Given the description of an element on the screen output the (x, y) to click on. 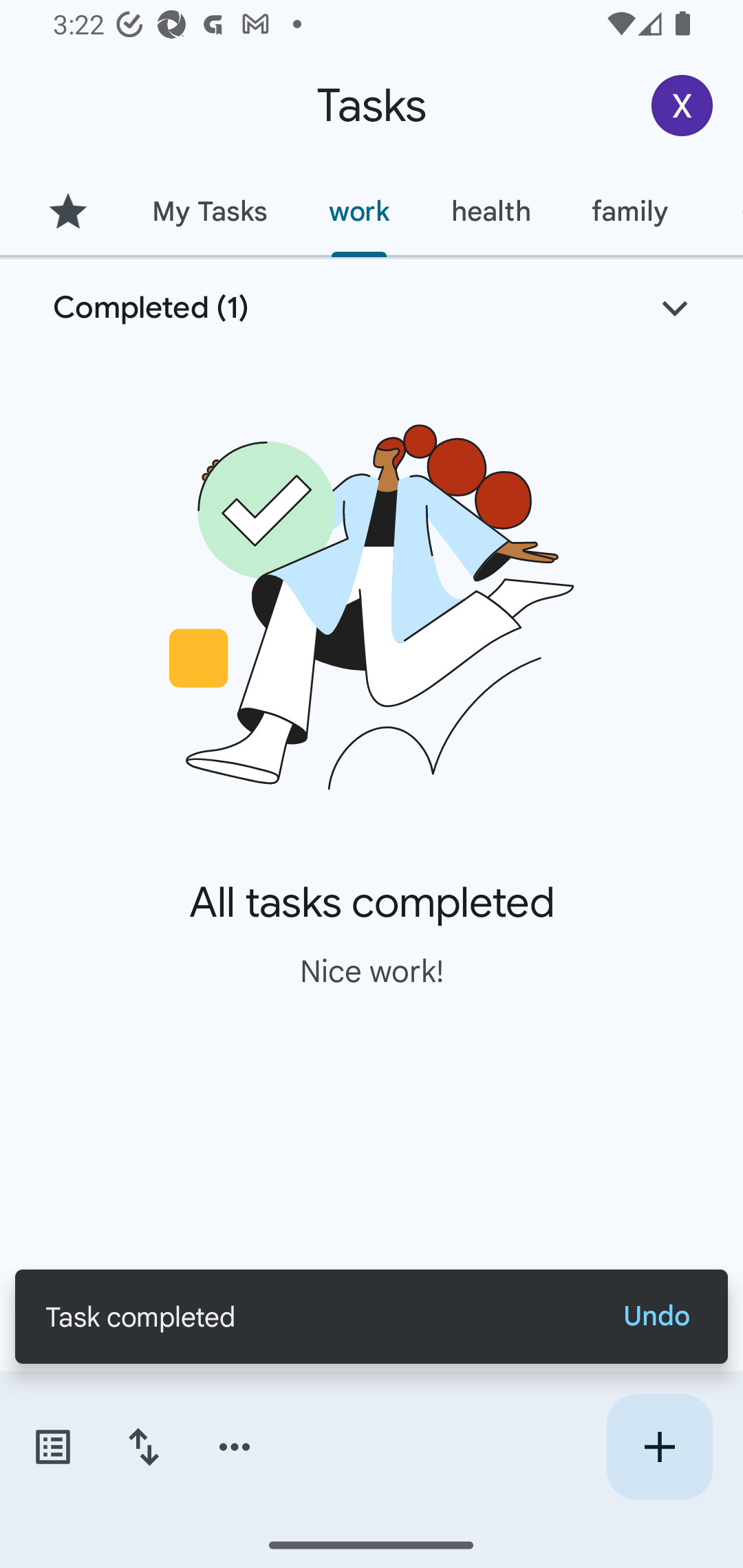
Starred (67, 211)
My Tasks (209, 211)
health (490, 211)
family (629, 211)
Completed (1) (371, 307)
Undo (656, 1316)
Switch task lists (52, 1447)
Create new task (659, 1446)
Change sort order (143, 1446)
More options (234, 1446)
